Given the description of an element on the screen output the (x, y) to click on. 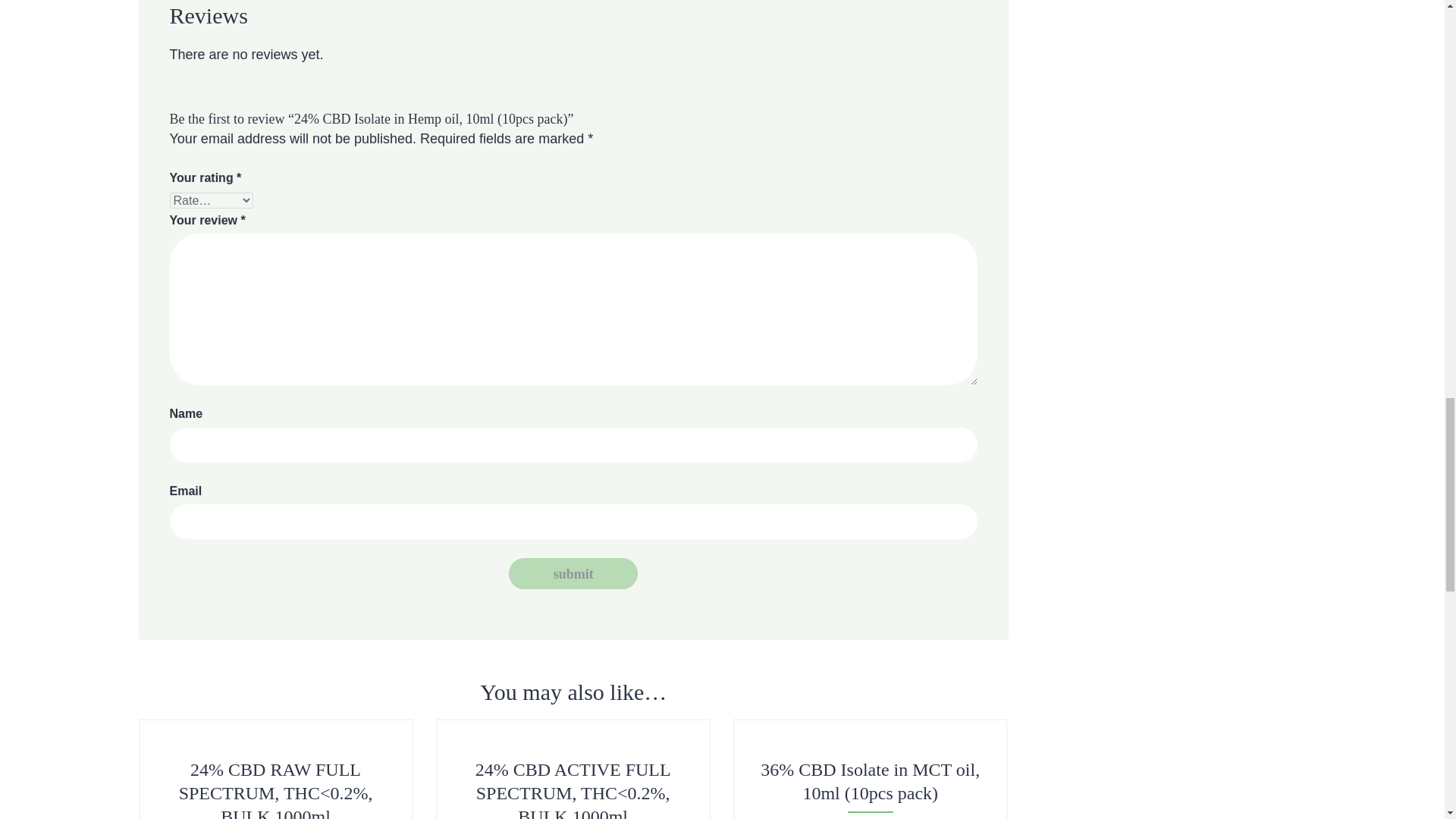
Submit (572, 572)
Submit (572, 572)
